Given the description of an element on the screen output the (x, y) to click on. 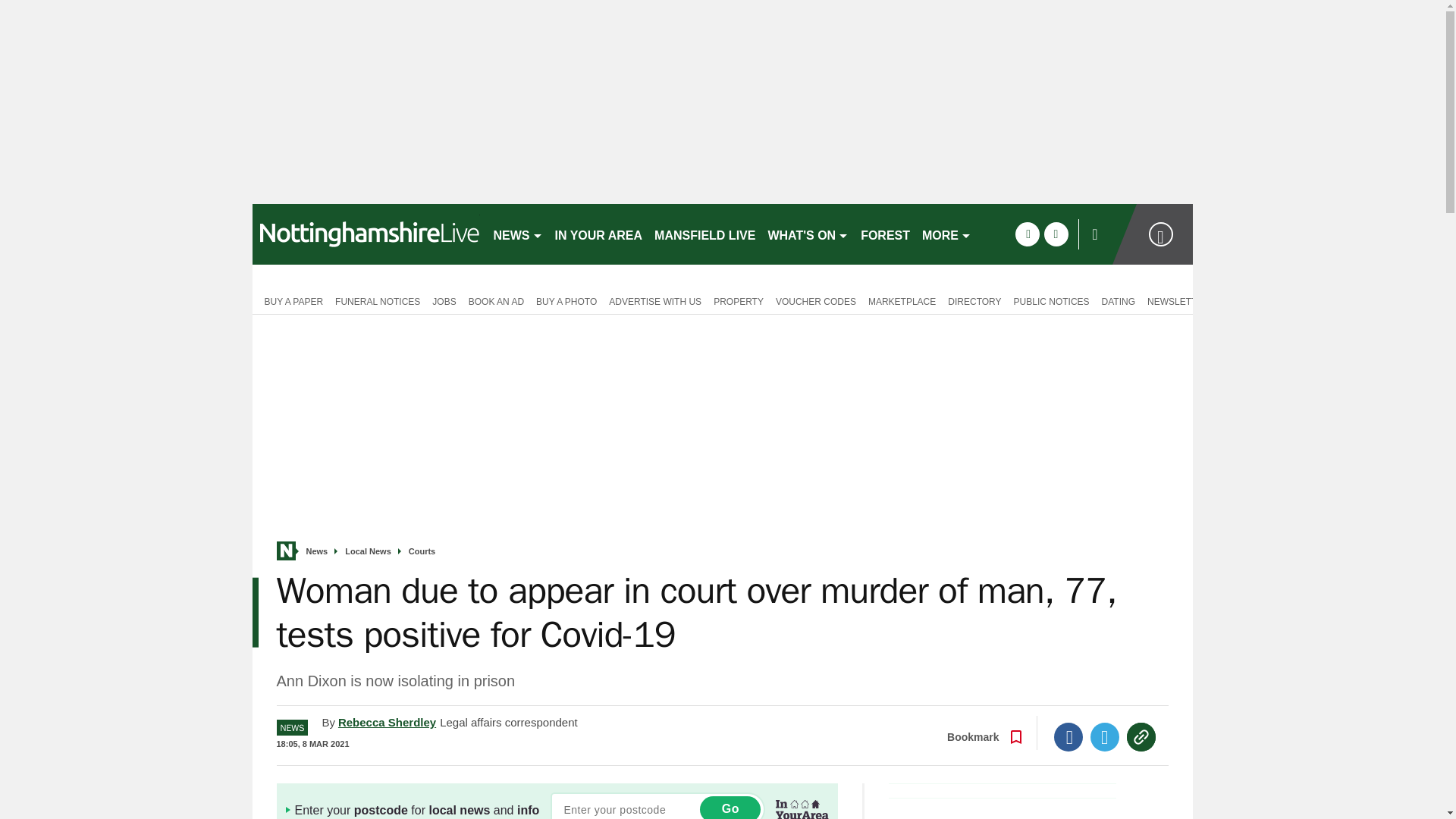
nottinghampost (365, 233)
Twitter (1104, 736)
NEWS (517, 233)
Facebook (1068, 736)
FOREST (884, 233)
WHAT'S ON (807, 233)
IN YOUR AREA (598, 233)
facebook (1026, 233)
MANSFIELD LIVE (704, 233)
Go (730, 807)
MORE (945, 233)
twitter (1055, 233)
